Given the description of an element on the screen output the (x, y) to click on. 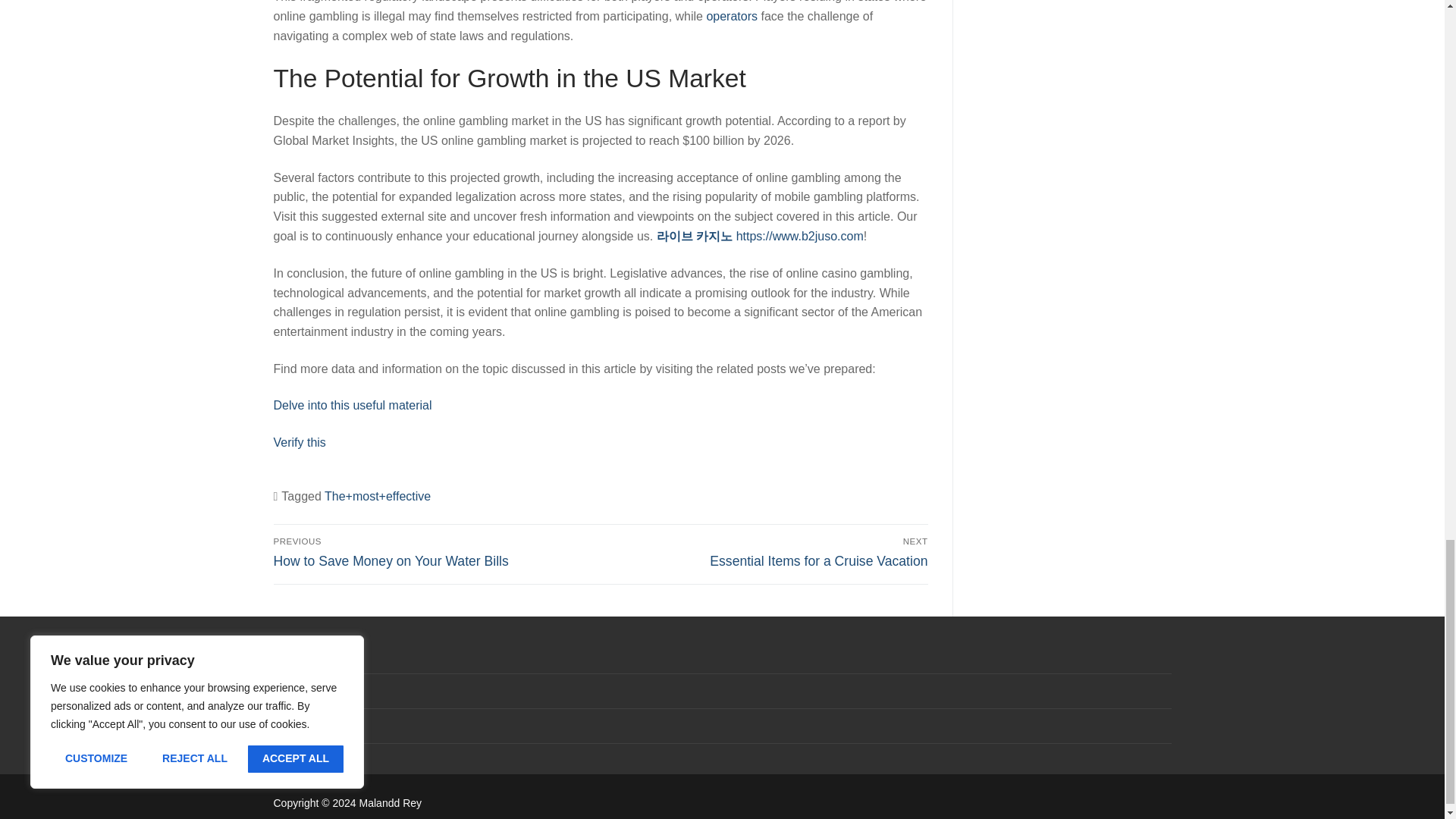
Delve into this useful material (351, 404)
operators (767, 552)
Verify this (731, 15)
